Given the description of an element on the screen output the (x, y) to click on. 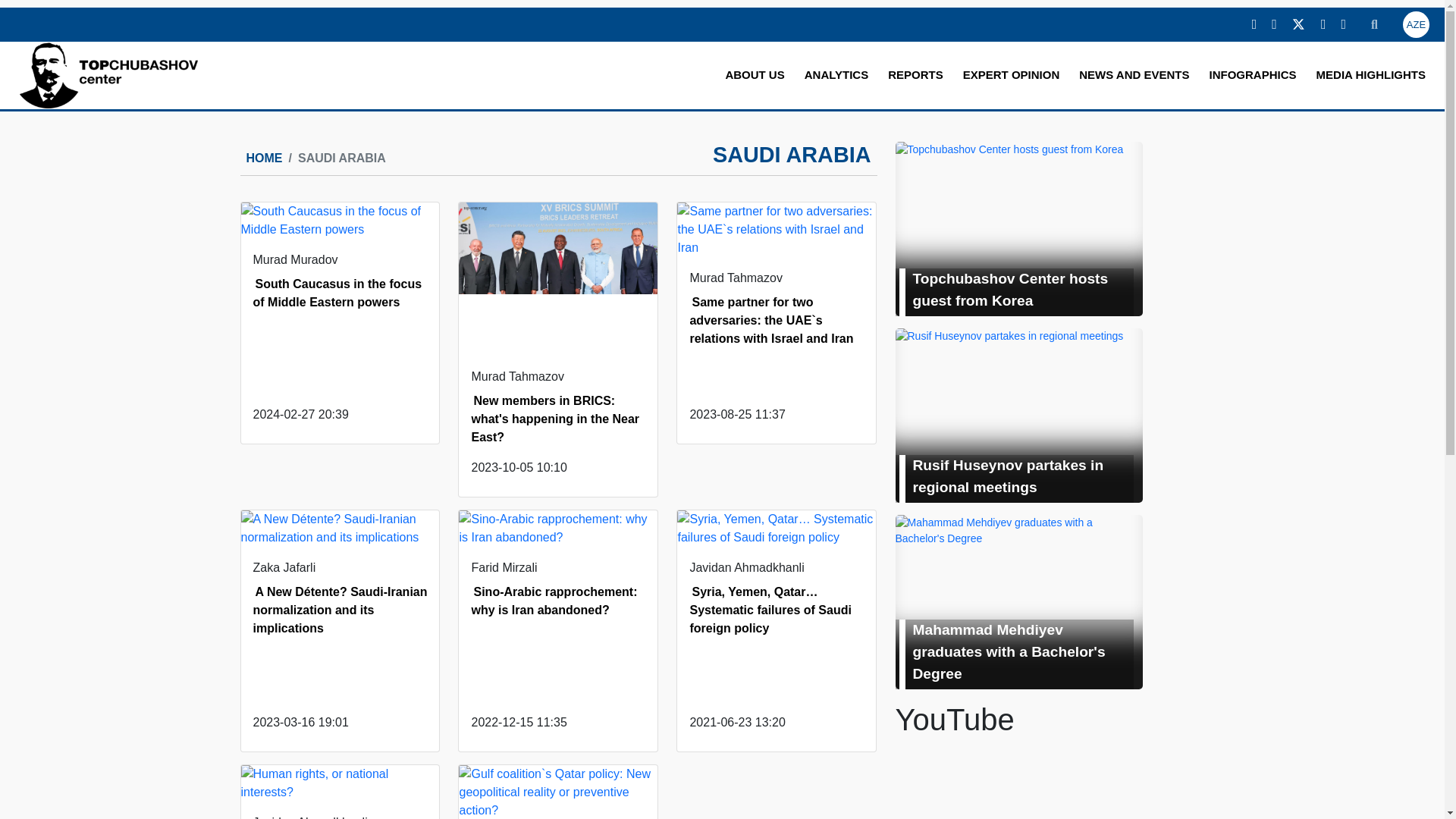
AZE (1416, 24)
ABOUT US (753, 75)
YouTube video player (1018, 780)
NEWS AND EVENTS (1133, 75)
REPORTS (915, 75)
ANALYTICS (836, 75)
EXPERT OPINION (1011, 75)
INFOGRAPHICS (1252, 75)
MEDIA HIGHLIGHTS (1371, 75)
